Given the description of an element on the screen output the (x, y) to click on. 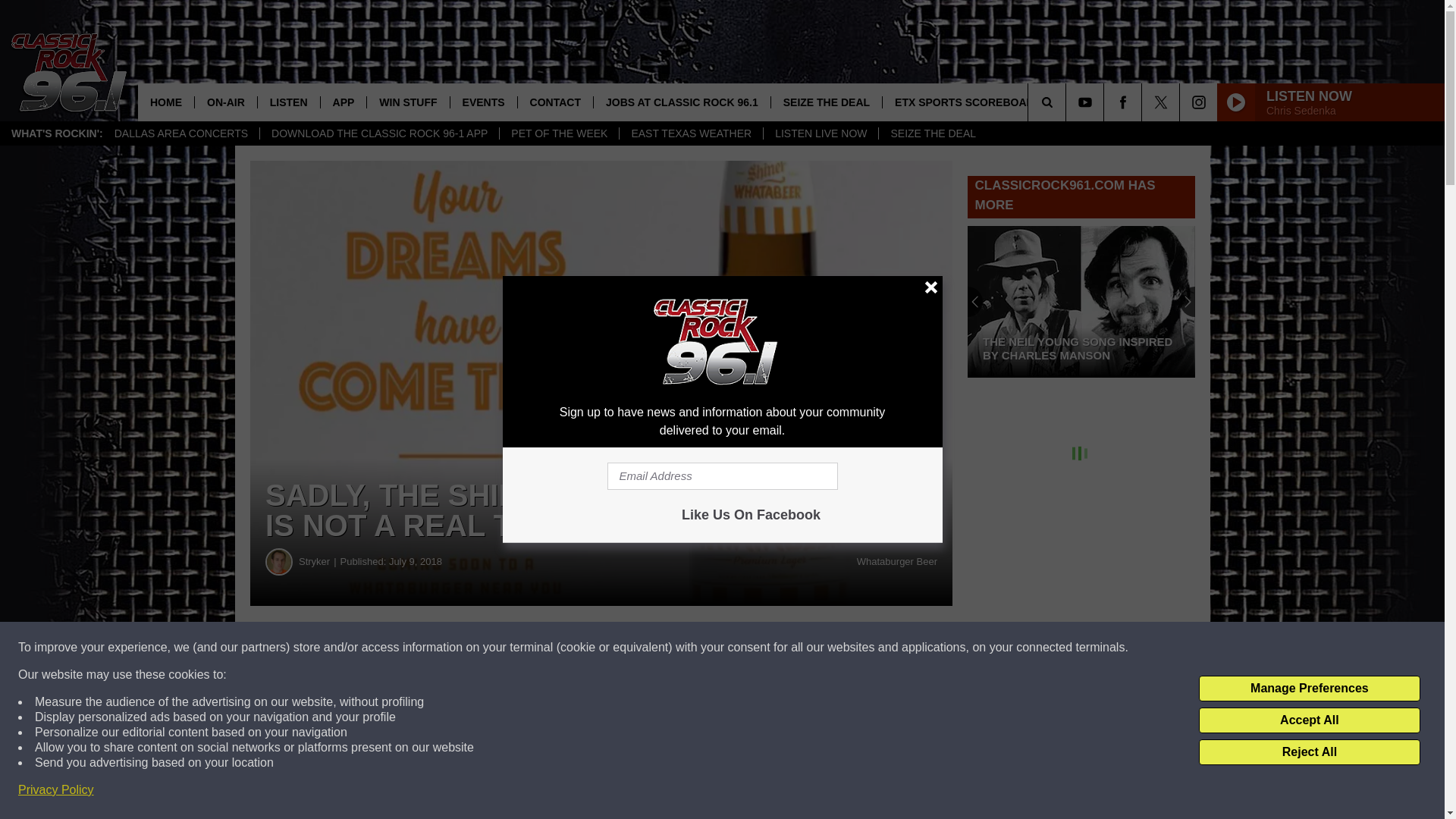
WIN STUFF (407, 102)
HOME (165, 102)
DALLAS AREA CONCERTS (181, 133)
EAST TEXAS WEATHER (690, 133)
Privacy Policy (55, 789)
DOWNLOAD THE CLASSIC ROCK 96-1 APP (379, 133)
SEARCH (1068, 102)
ON-AIR (225, 102)
Share on Twitter (741, 647)
Manage Preferences (1309, 688)
Reject All (1309, 751)
SEIZE THE DEAL (932, 133)
Email Address (722, 475)
PET OF THE WEEK (558, 133)
Accept All (1309, 720)
